Given the description of an element on the screen output the (x, y) to click on. 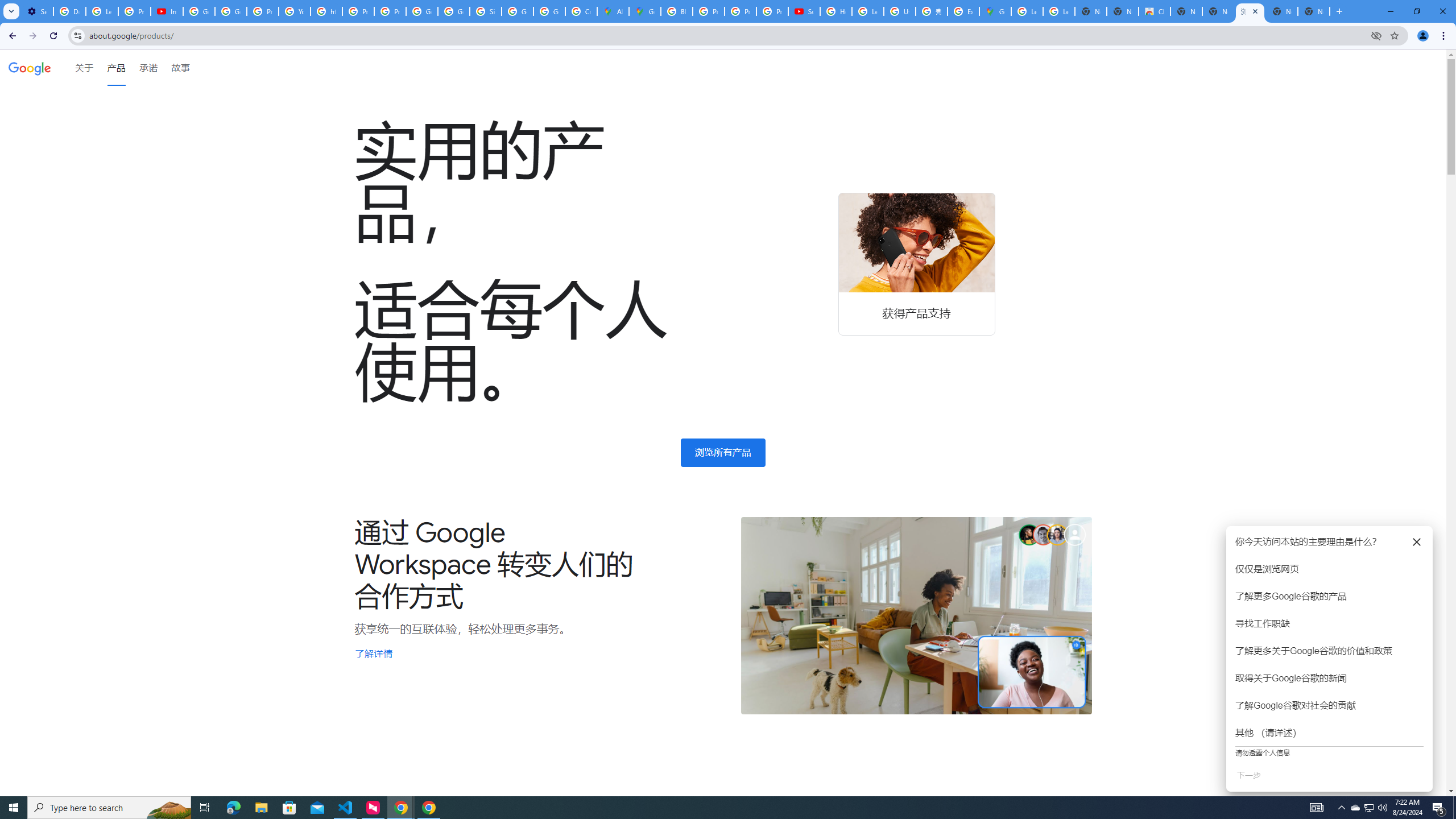
Privacy Help Center - Policies Help (740, 11)
YouTube (294, 11)
Sign in - Google Accounts (485, 11)
Chrome Web Store (1154, 11)
Privacy Help Center - Policies Help (708, 11)
Introduction | Google Privacy Policy - YouTube (166, 11)
Privacy Help Center - Policies Help (262, 11)
